Given the description of an element on the screen output the (x, y) to click on. 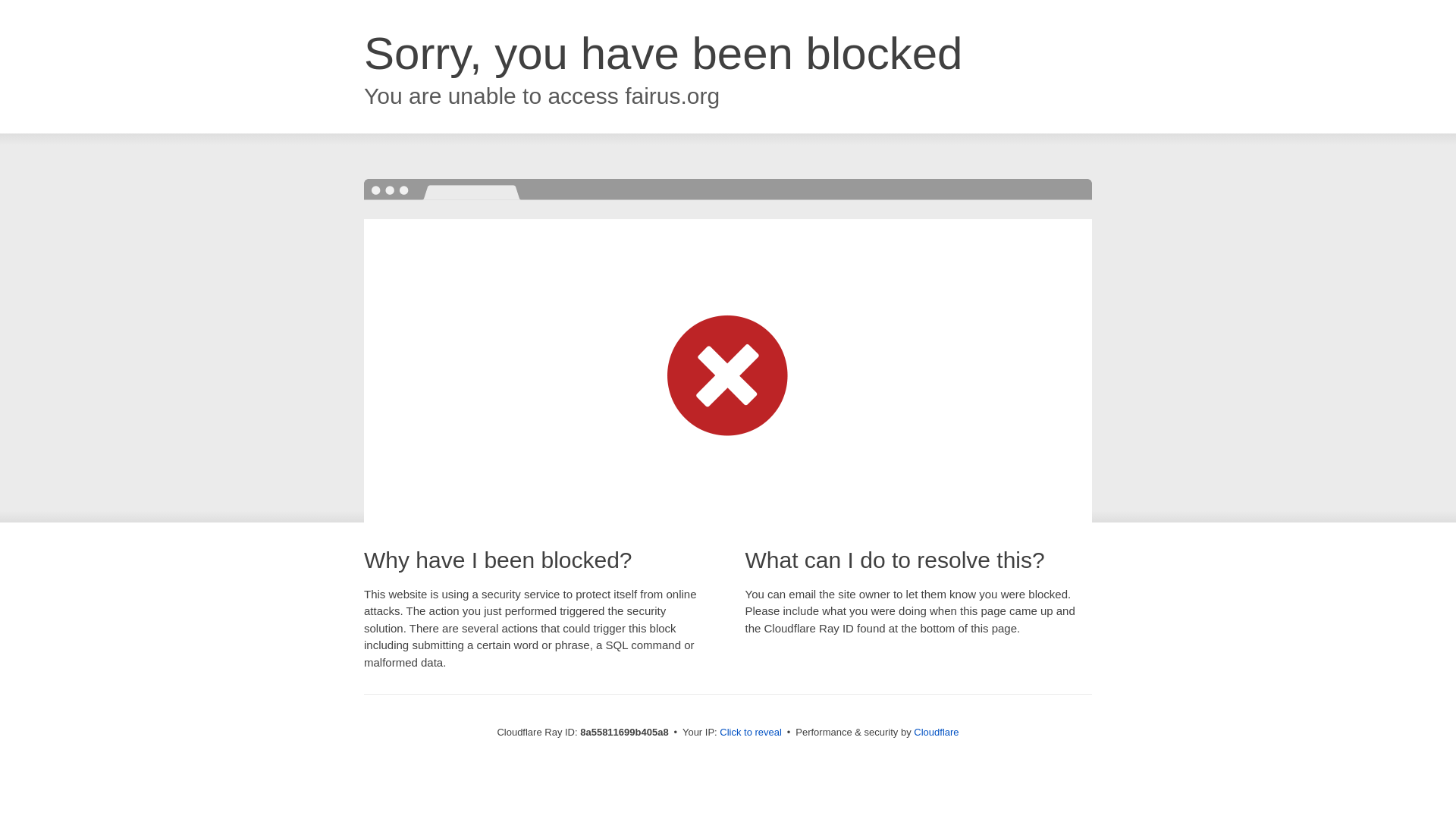
Click to reveal (750, 732)
Cloudflare (936, 731)
